Given the description of an element on the screen output the (x, y) to click on. 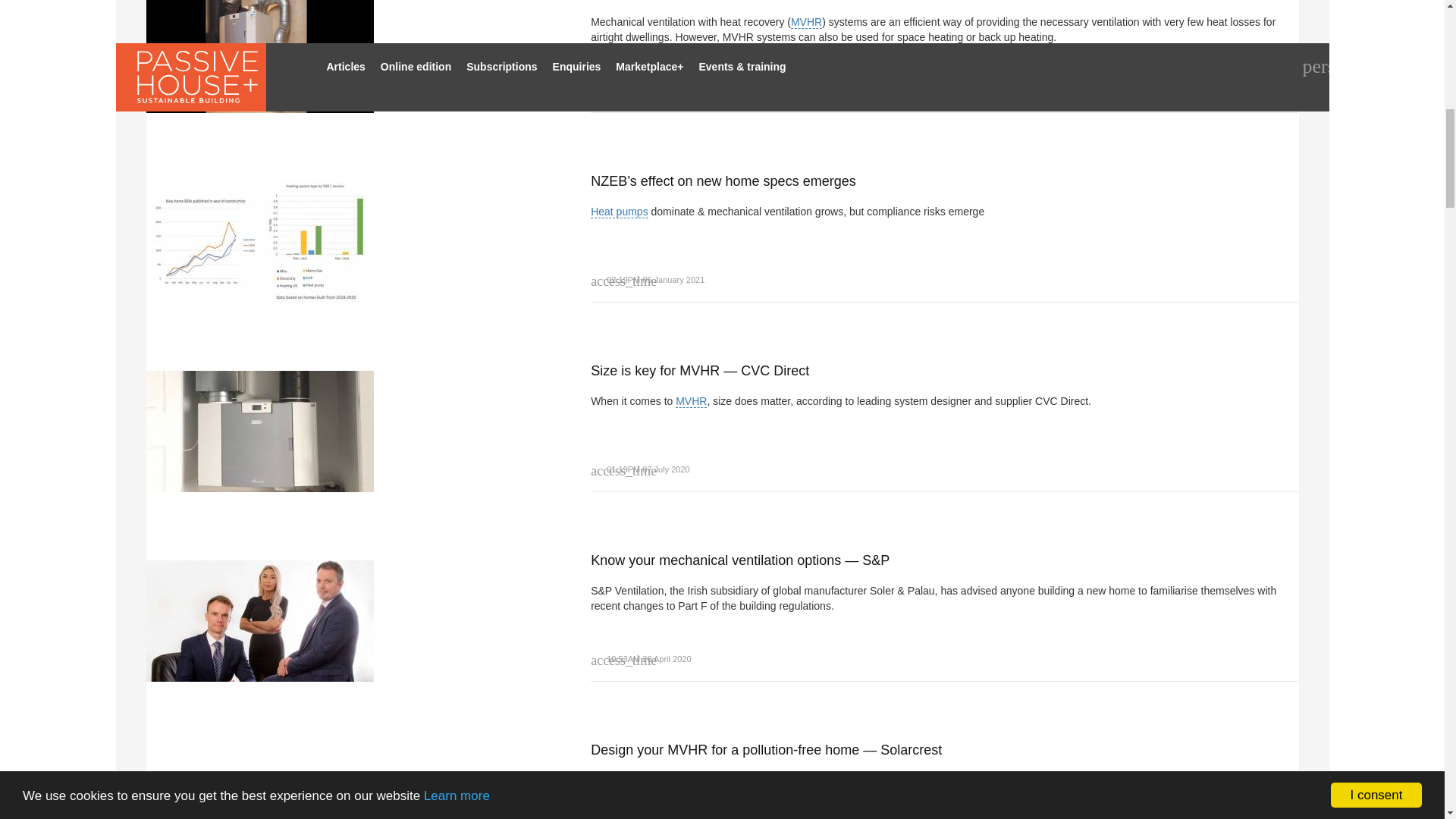
MVHR (806, 21)
MVHR (690, 400)
MVHR (1144, 780)
heat pump (619, 211)
